Given the description of an element on the screen output the (x, y) to click on. 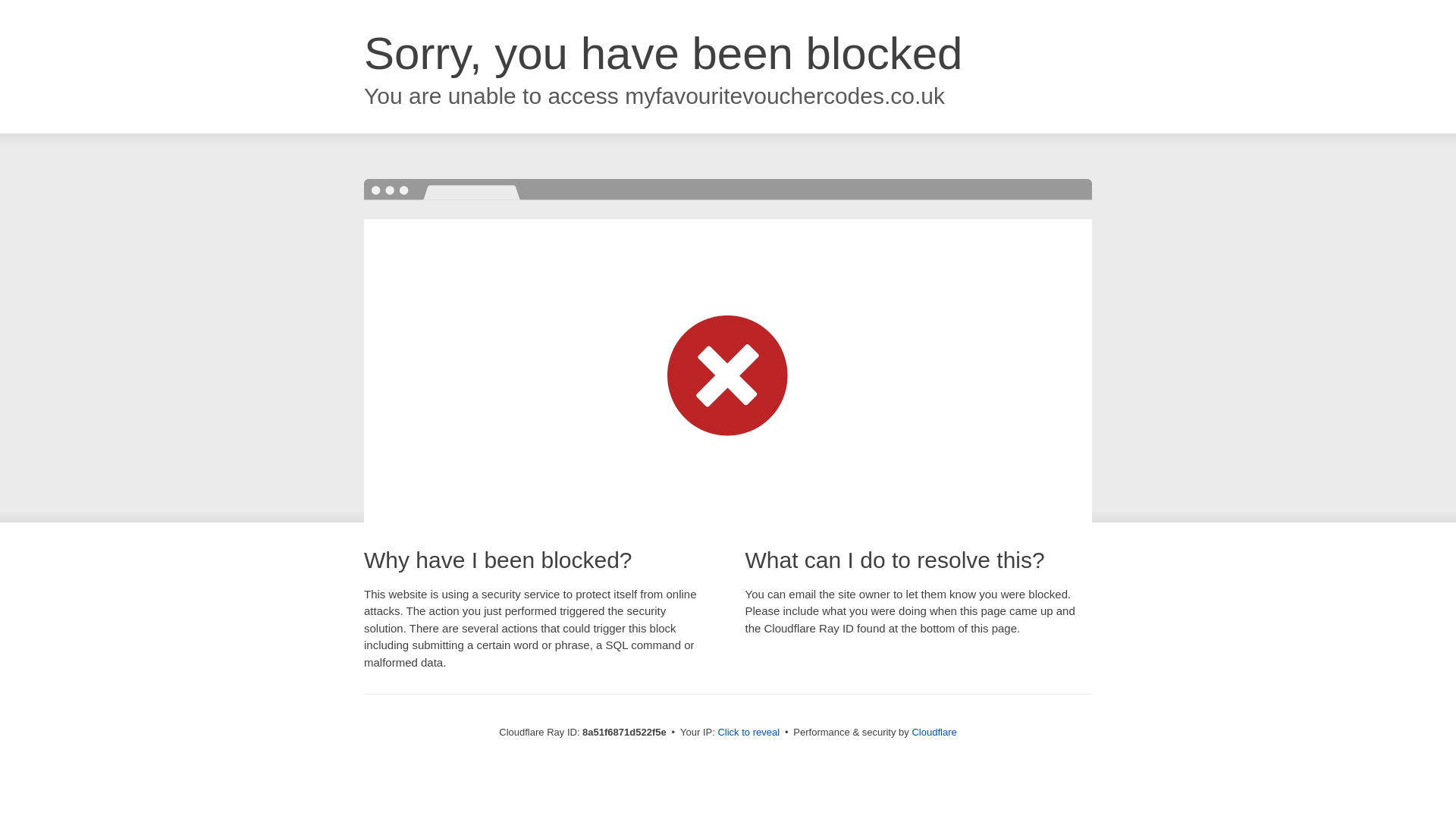
Cloudflare (933, 731)
Click to reveal (747, 732)
